Given the description of an element on the screen output the (x, y) to click on. 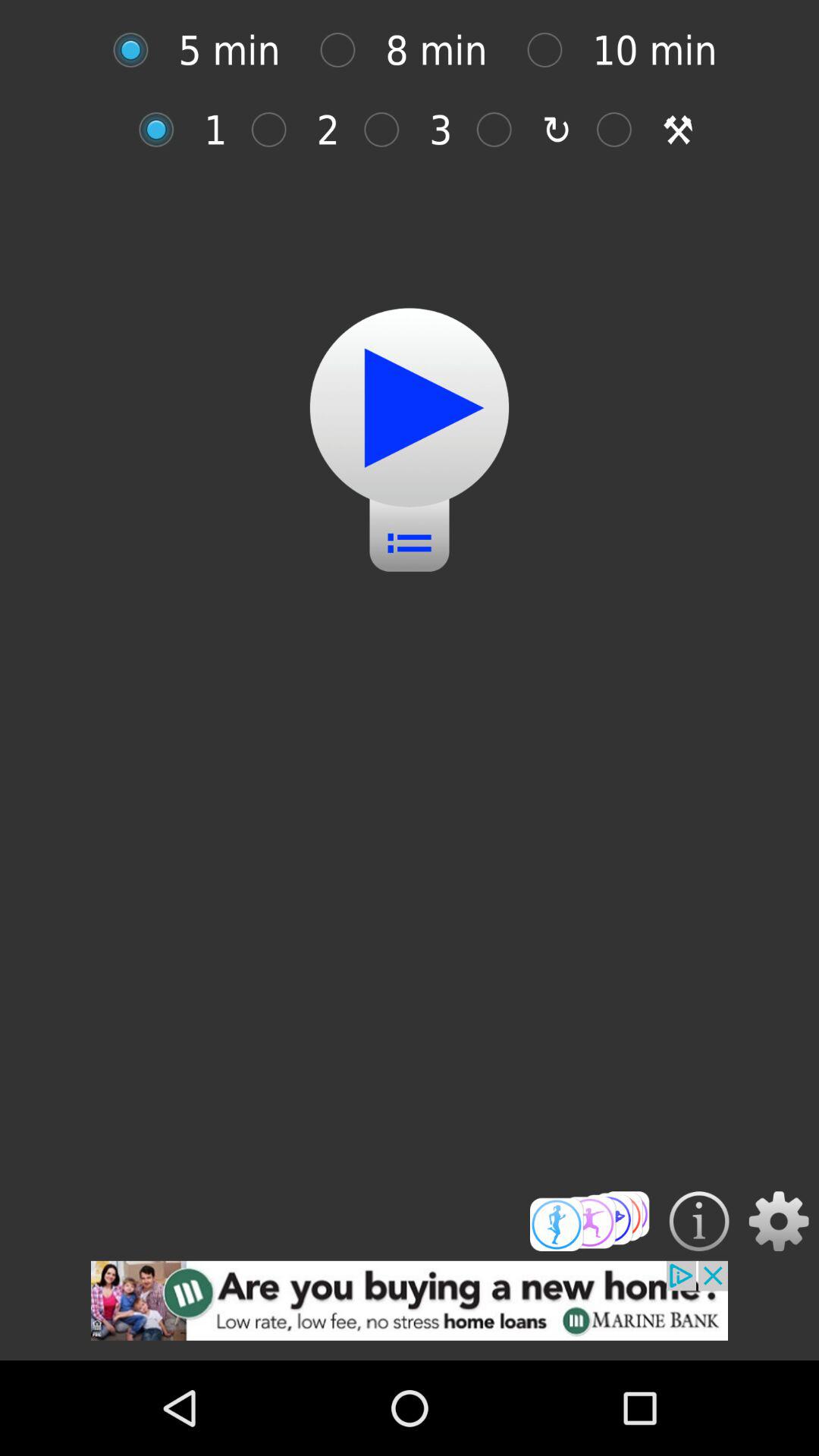
next (409, 407)
